Given the description of an element on the screen output the (x, y) to click on. 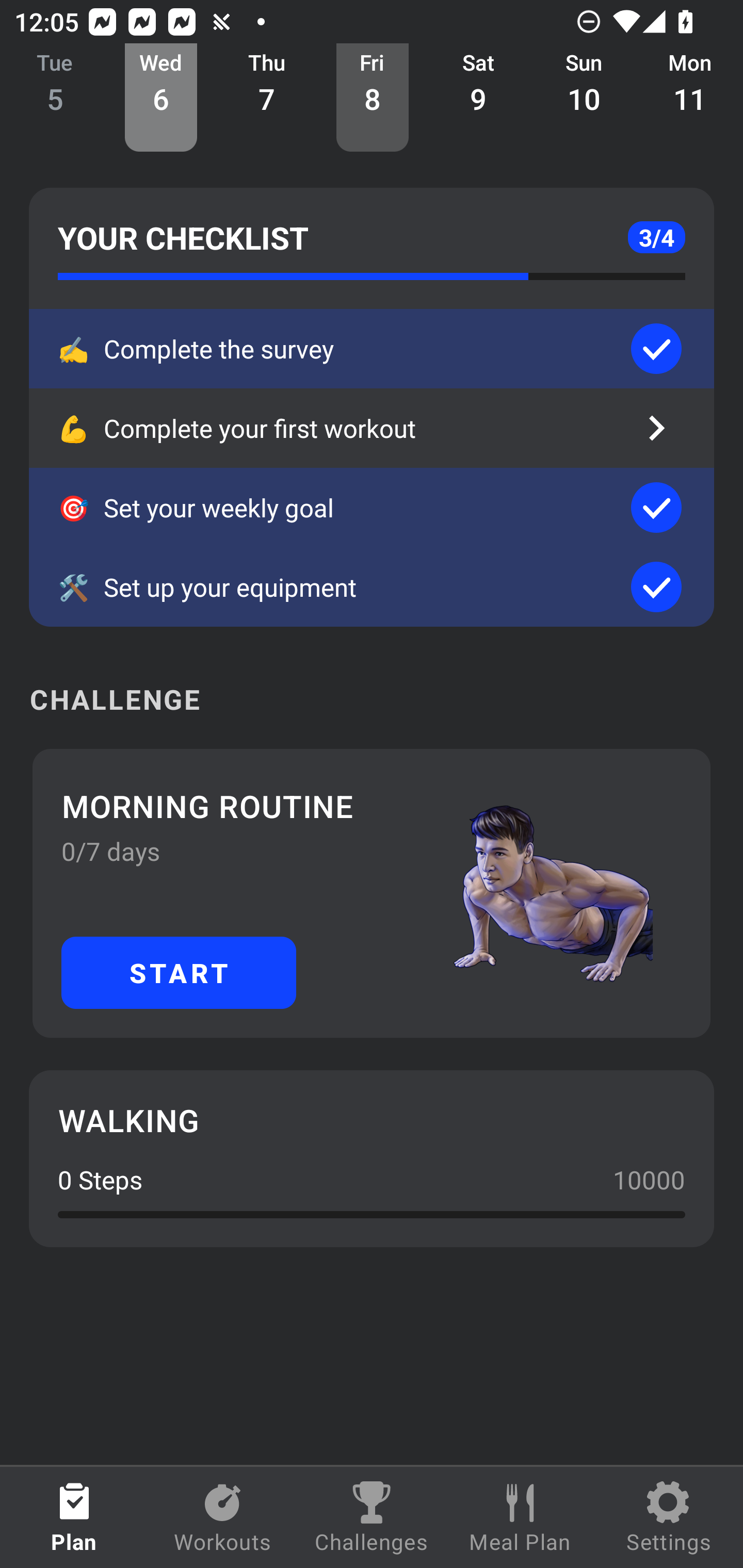
Tue 5 (55, 97)
Wed 6 (160, 97)
Thu 7 (266, 97)
Fri 8 (372, 97)
Sat 9 (478, 97)
Sun 10 (584, 97)
Mon 11 (690, 97)
💪 Complete your first workout (371, 427)
MORNING ROUTINE 0/7 days START (371, 892)
START (178, 972)
WALKING 0 Steps 10000 0.0 (371, 1158)
 Workouts  (222, 1517)
 Challenges  (371, 1517)
 Meal Plan  (519, 1517)
 Settings  (668, 1517)
